Given the description of an element on the screen output the (x, y) to click on. 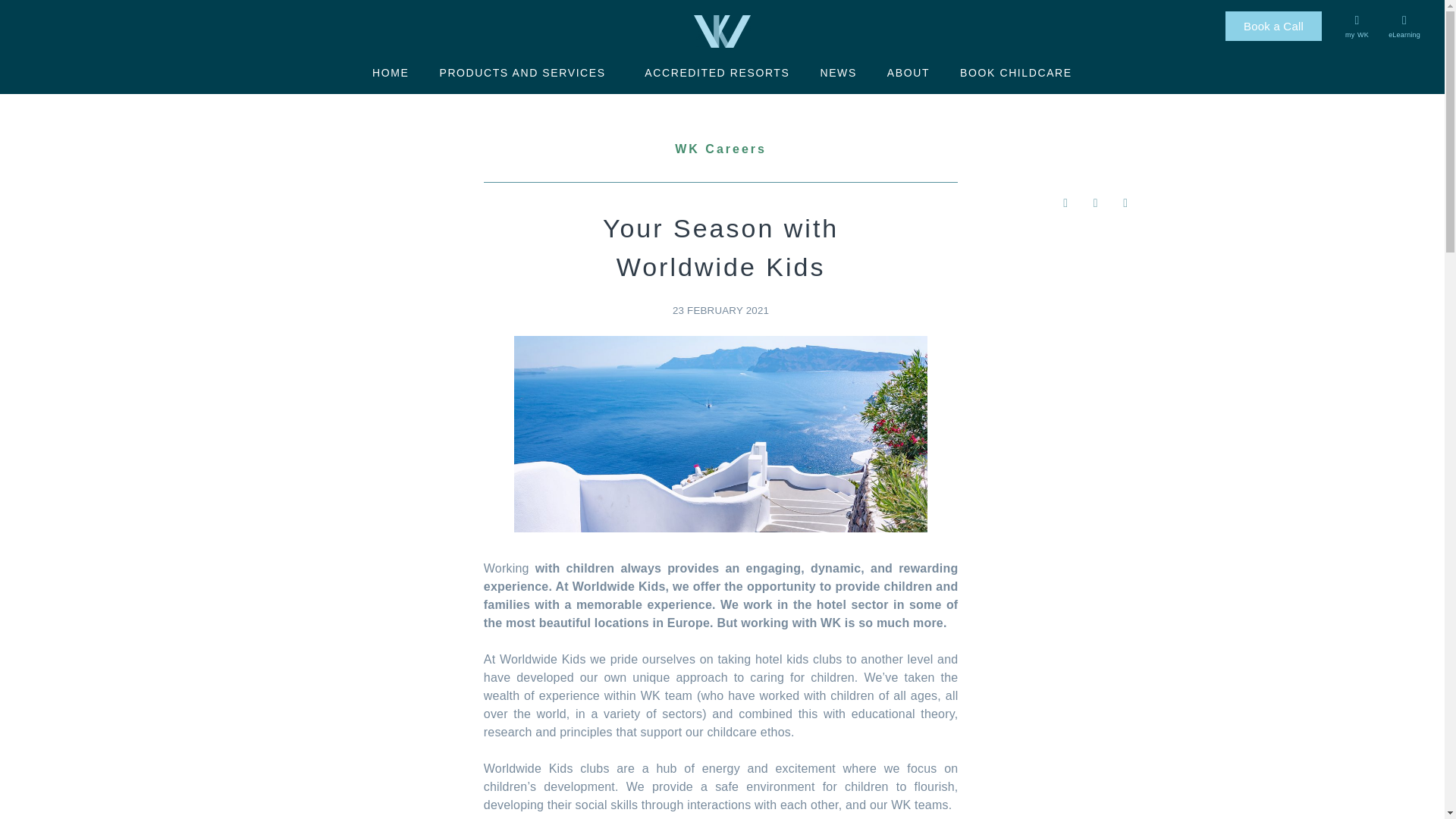
ACCREDITED RESORTS (716, 73)
HOME (389, 73)
PRODUCTS AND SERVICES (525, 73)
BOOK CHILDCARE (1015, 73)
ABOUT (908, 73)
NEWS (837, 73)
